Given the description of an element on the screen output the (x, y) to click on. 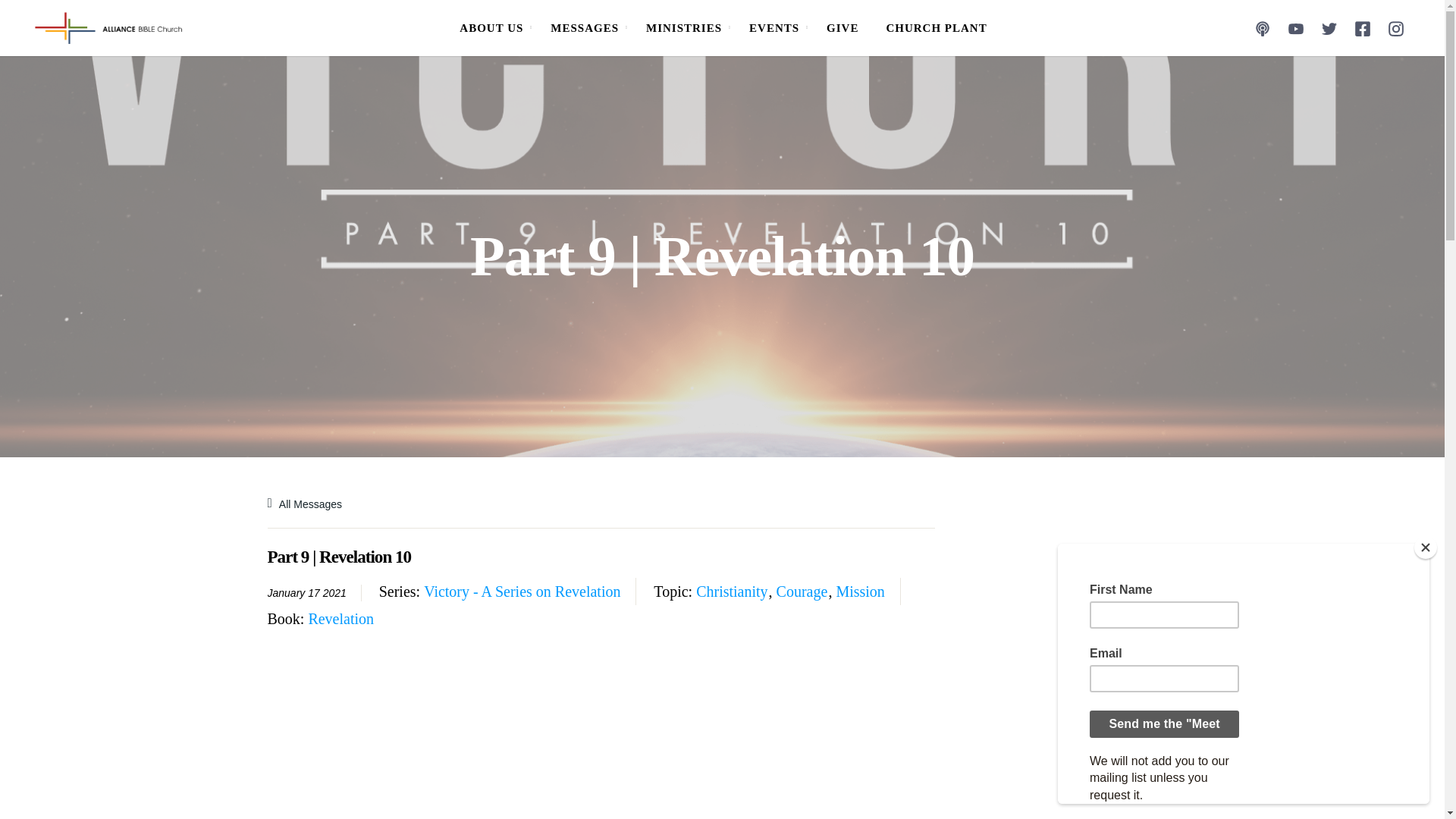
MESSAGES (584, 28)
MINISTRIES (683, 28)
ABOUT US (491, 28)
CHURCH PLANT (936, 28)
EVENTS (773, 28)
GIVE (842, 28)
